Given the description of an element on the screen output the (x, y) to click on. 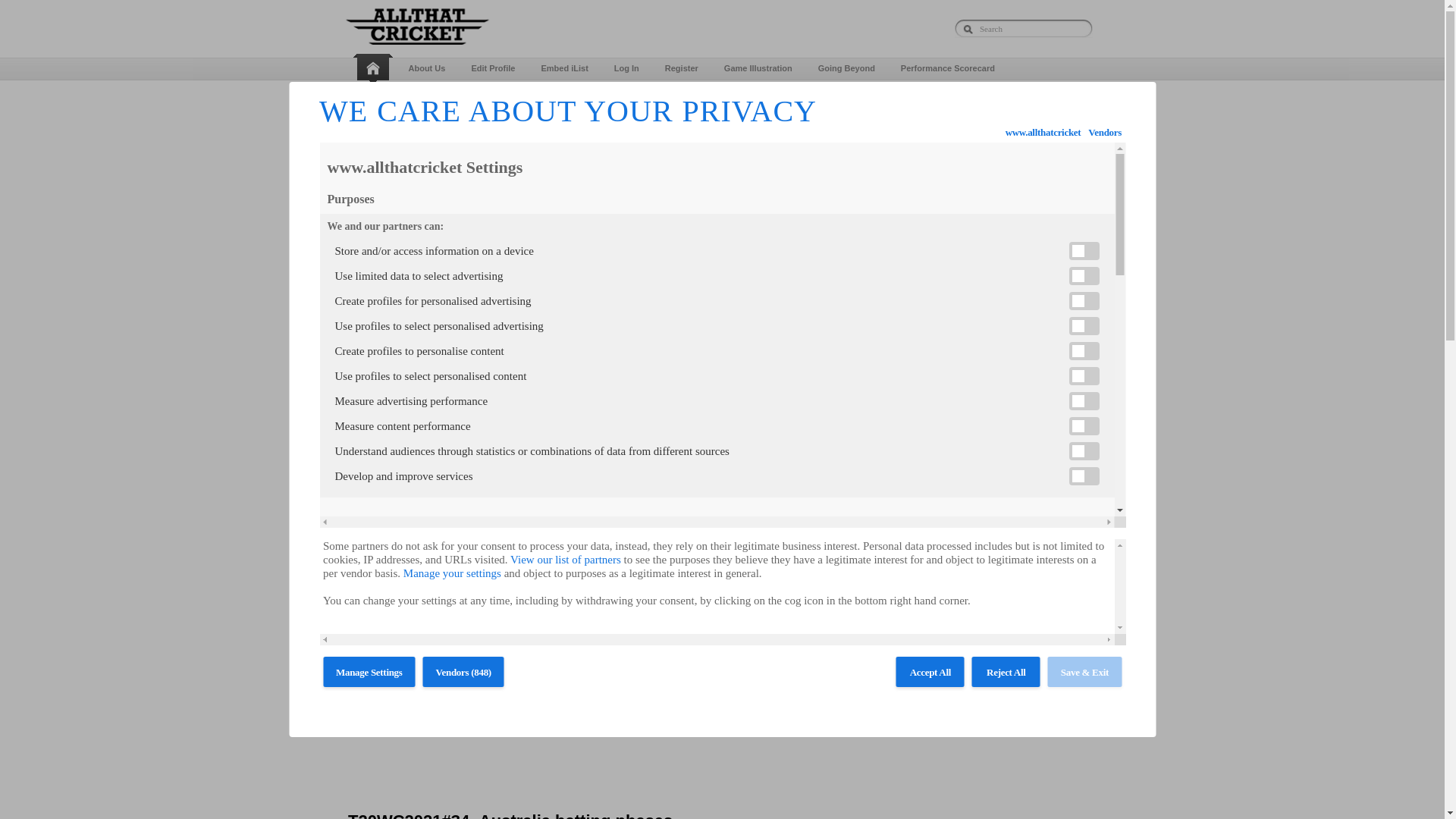
Log In (626, 68)
Going Beyond (846, 68)
Performance Scorecard (947, 68)
About Us (427, 68)
Think like a cricketer (664, 96)
home (374, 69)
score card and floorchart (546, 96)
Search (1024, 28)
